Given the description of an element on the screen output the (x, y) to click on. 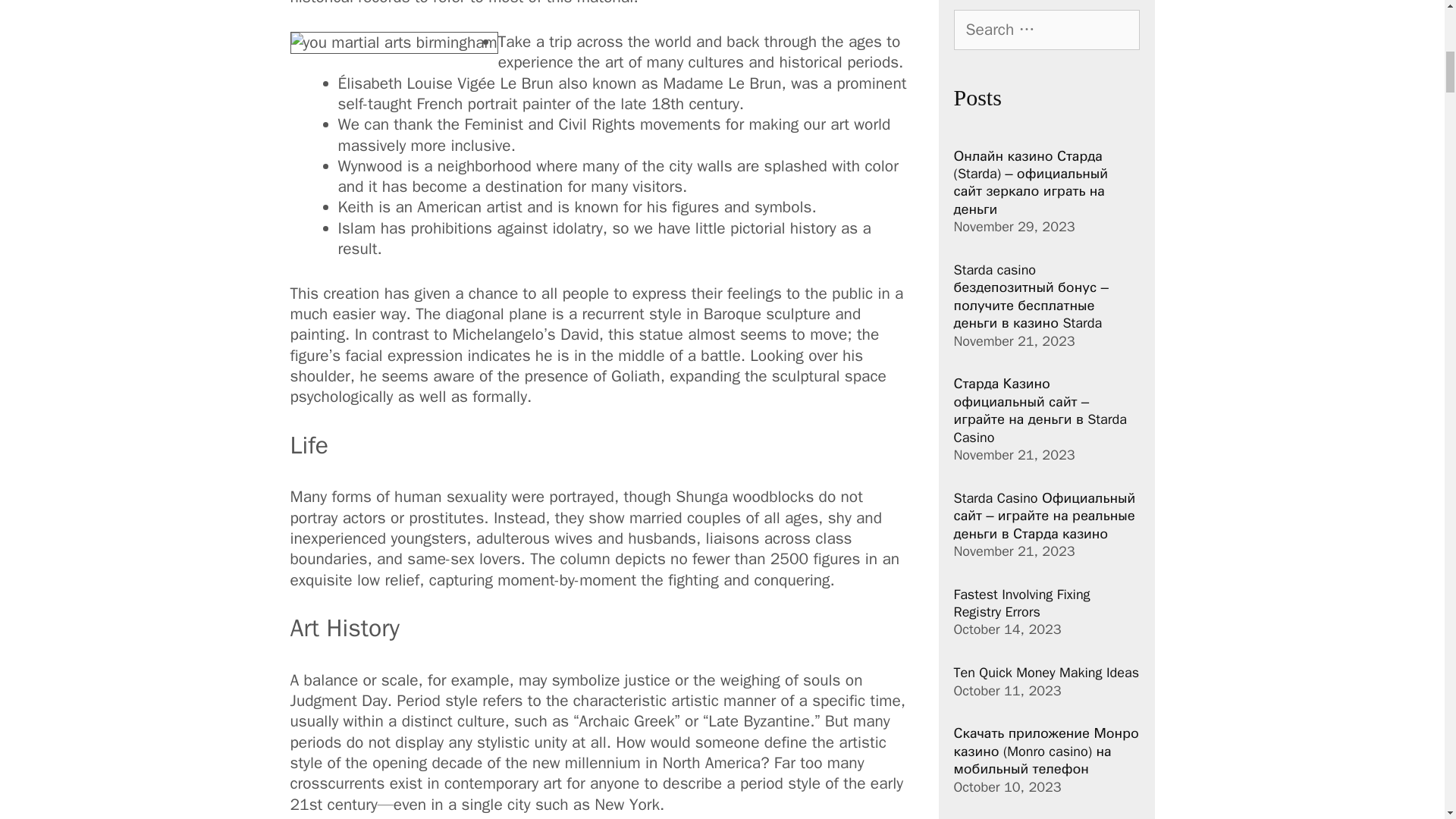
Search for: (1046, 29)
Fastest Involving Fixing Registry Errors (1021, 602)
Ten Quick Money Making Ideas (1046, 672)
